Given the description of an element on the screen output the (x, y) to click on. 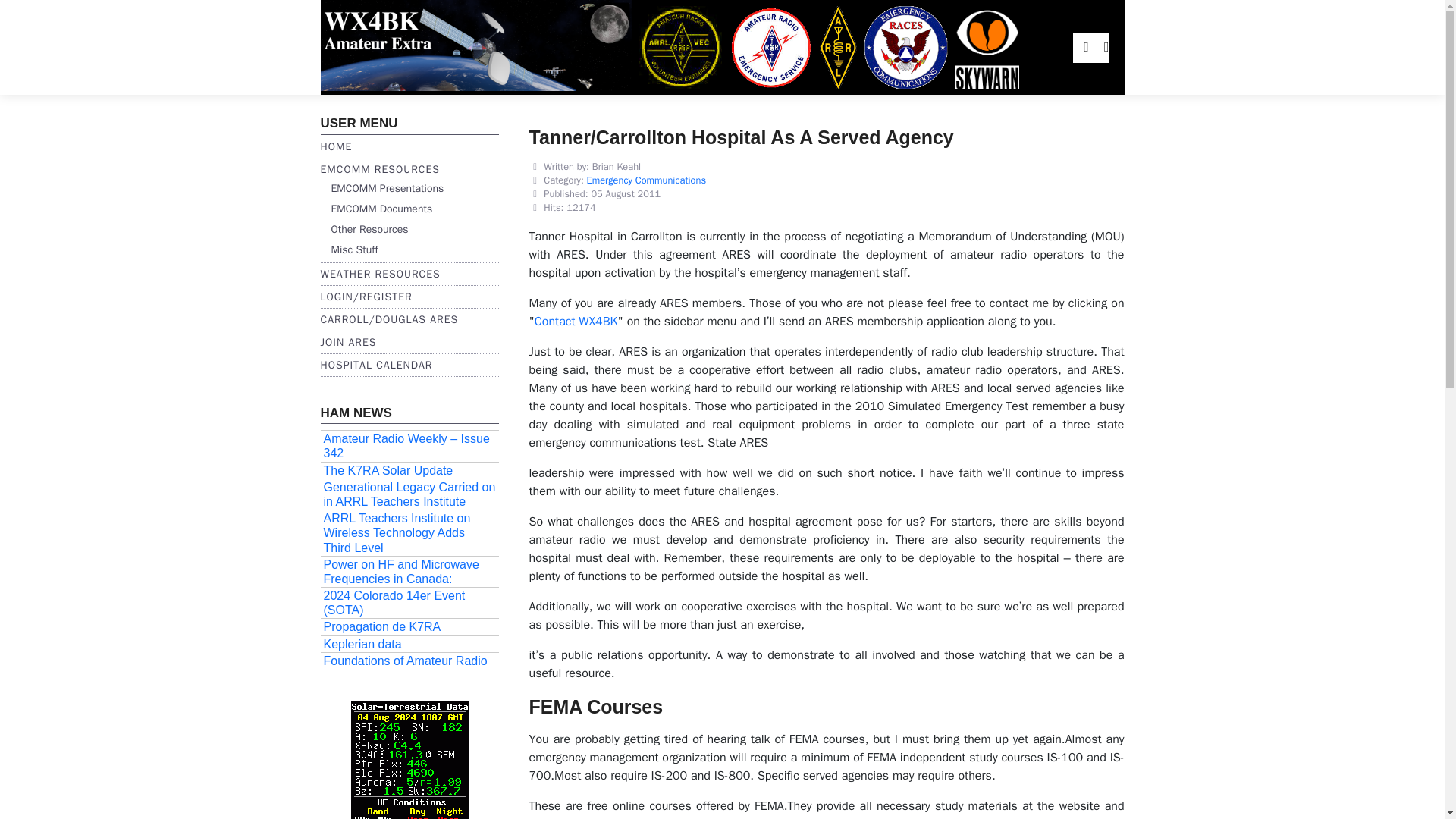
Other Resources (368, 228)
JOIN ARES (347, 341)
EMCOMM Presentations (387, 187)
EMCOMM Documents (381, 208)
EMCOMM RESOURCES (379, 169)
Keplerian data (409, 644)
HOSPITAL CALENDAR (376, 364)
The K7RA Solar Update (409, 470)
Power on HF and Microwave Frequencies in Canada: (409, 571)
WEATHER RESOURCES (379, 273)
Foundations of Amateur Radio (409, 660)
Generational Legacy Carried on in ARRL Teachers Institute (409, 493)
Misc Stuff (353, 249)
Propagation de K7RA (409, 626)
